Given the description of an element on the screen output the (x, y) to click on. 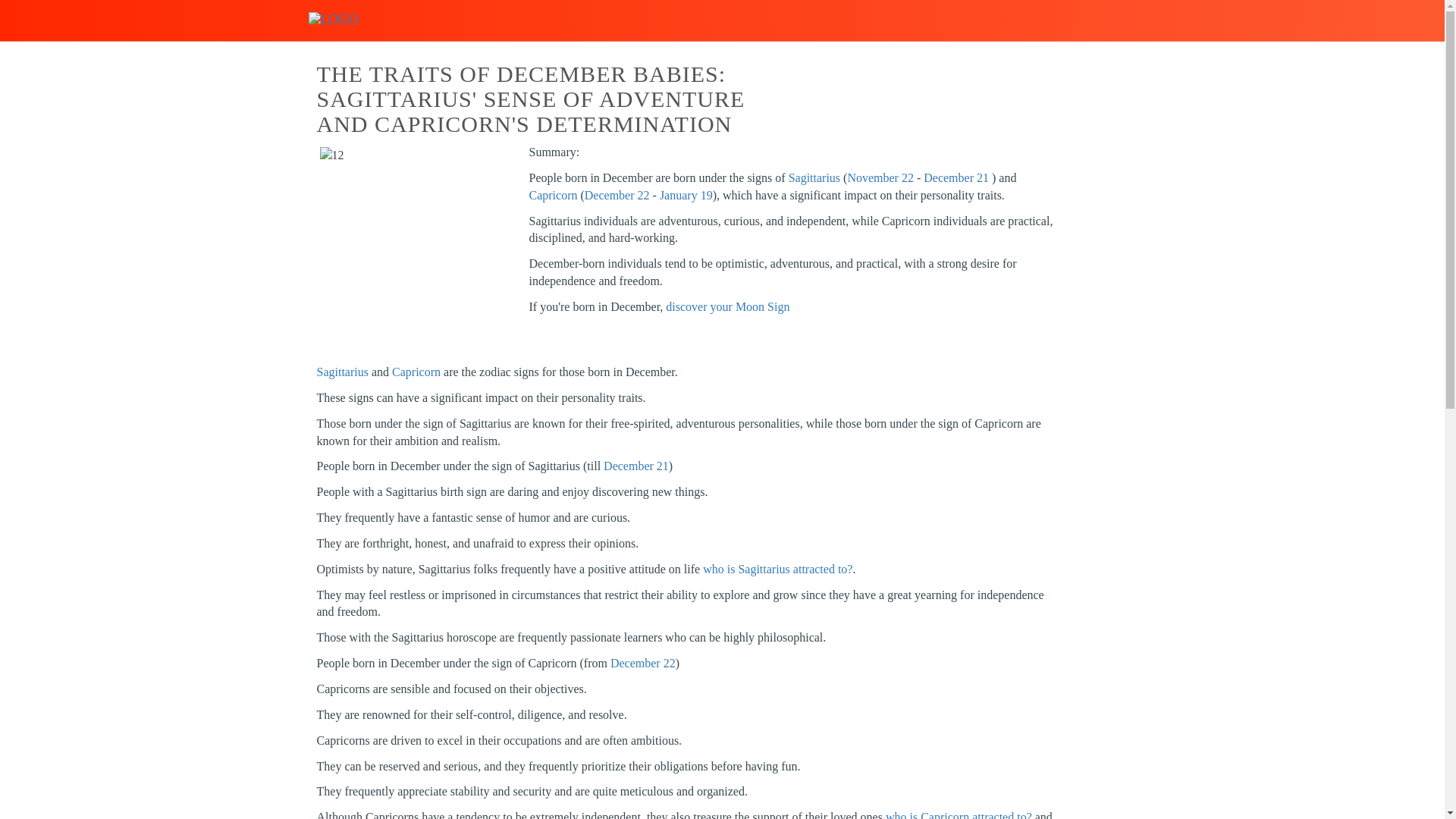
December 21 (636, 465)
Capricorn (416, 371)
who is Capricorn attracted to? (958, 814)
12 (411, 238)
November 22 (880, 177)
December 22 (617, 195)
December 22 (642, 662)
January 19 (686, 195)
discover your Moon Sign (727, 306)
Capricorn (553, 195)
